Given the description of an element on the screen output the (x, y) to click on. 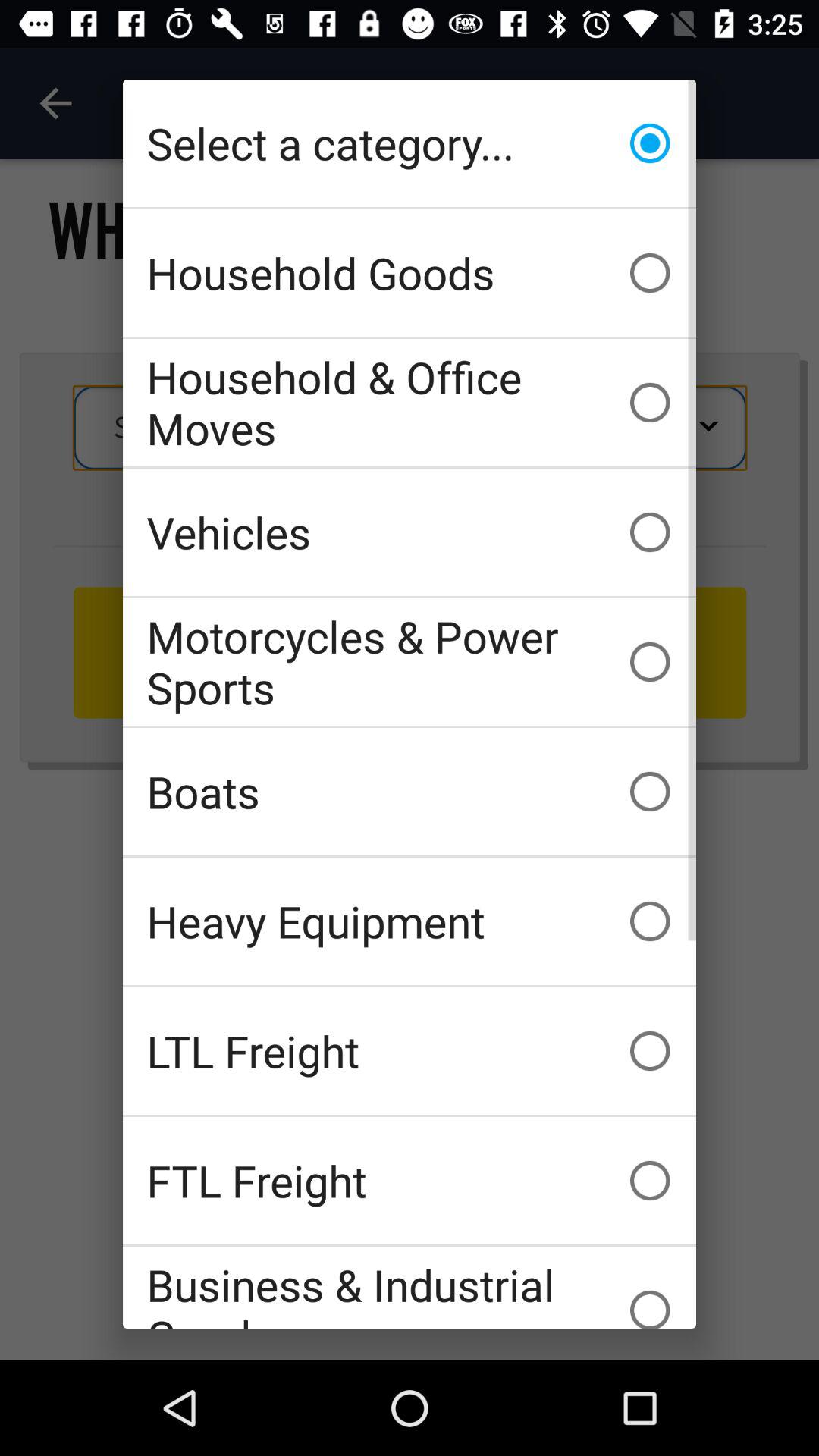
flip to motorcycles & power sports item (409, 661)
